Given the description of an element on the screen output the (x, y) to click on. 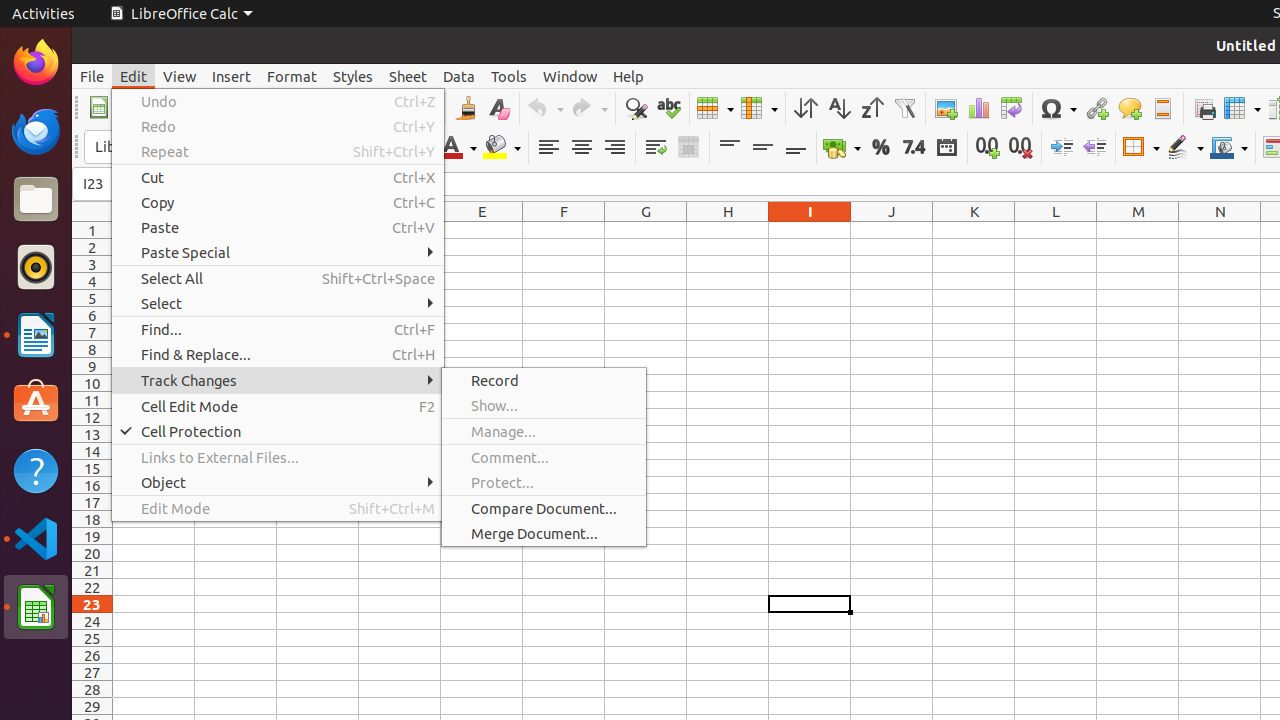
M1 Element type: table-cell (1138, 230)
Wrap Text Element type: push-button (655, 147)
Apply Style Element type: text (73, 129)
Number Element type: push-button (913, 147)
Links to External Files... Element type: menu-item (278, 457)
